Given the description of an element on the screen output the (x, y) to click on. 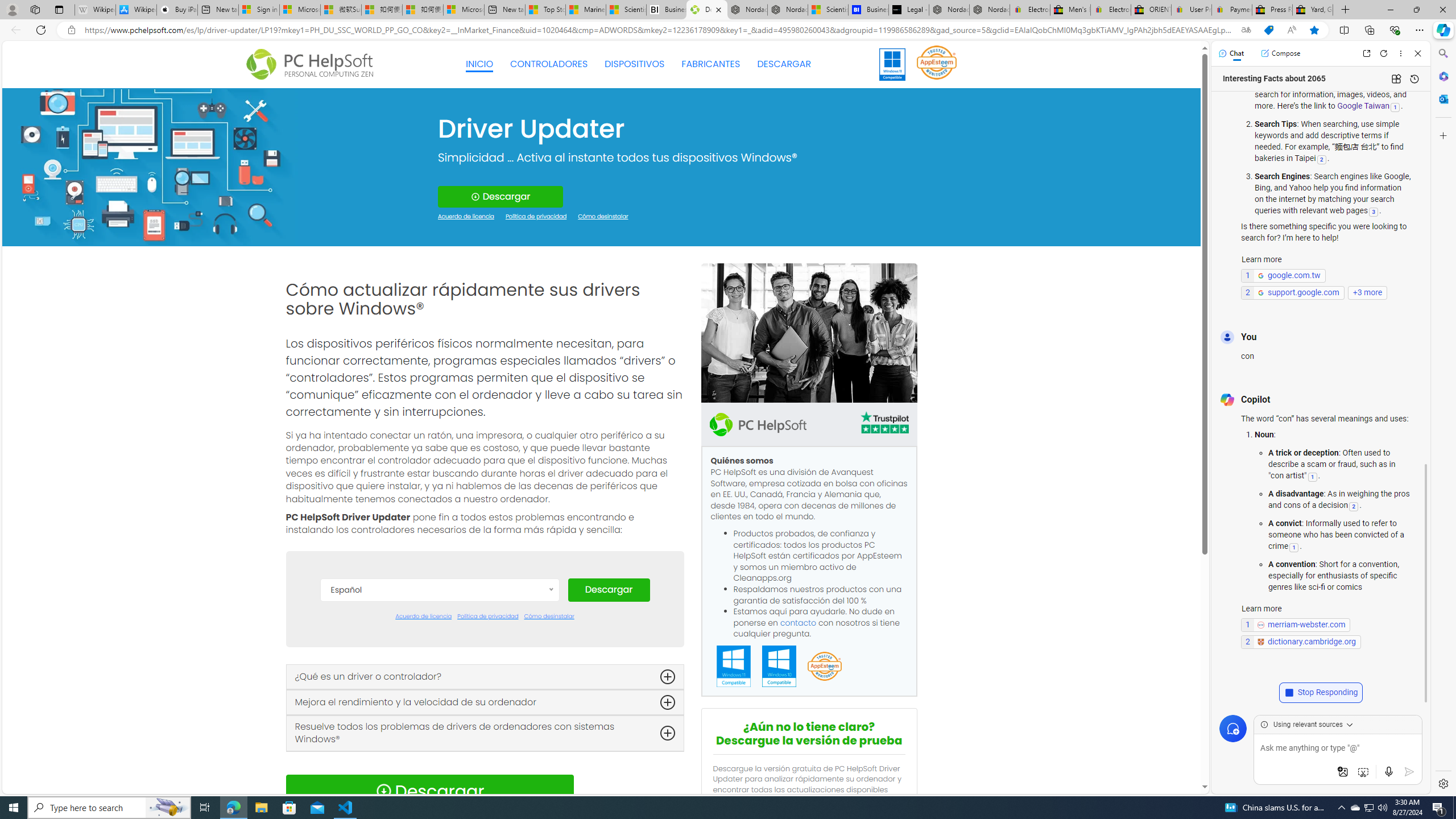
Buy iPad - Apple (176, 9)
Descarga Driver Updater (706, 9)
Logo Personal Computing (313, 64)
DESCARGAR (783, 64)
Compose (1280, 52)
Payments Terms of Use | eBay.com (1231, 9)
Microsoft Services Agreement (299, 9)
Marine life - MSN (585, 9)
Generic (150, 166)
Download Icon Descargar (429, 790)
Side bar (1443, 418)
team (808, 332)
